Given the description of an element on the screen output the (x, y) to click on. 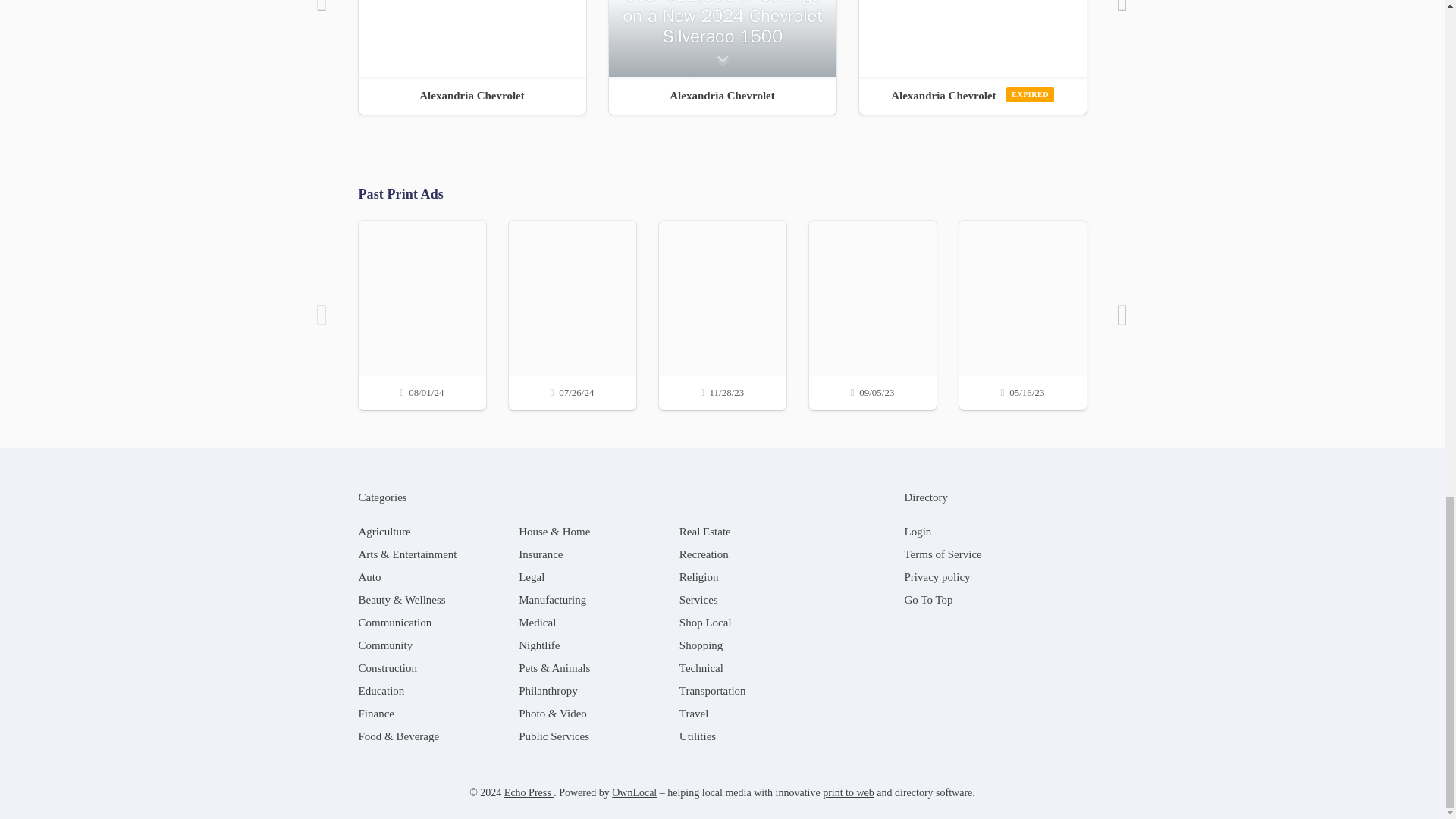
Origami Widget Number: 1906872 (972, 38)
Alexandria Chevrolet (721, 94)
Alexandria Chevrolet (471, 94)
Alexandria Chevrolet (972, 94)
Origami Widget Number: 2005597 (721, 38)
Origami Widget Number: 2008616 (471, 38)
